Given the description of an element on the screen output the (x, y) to click on. 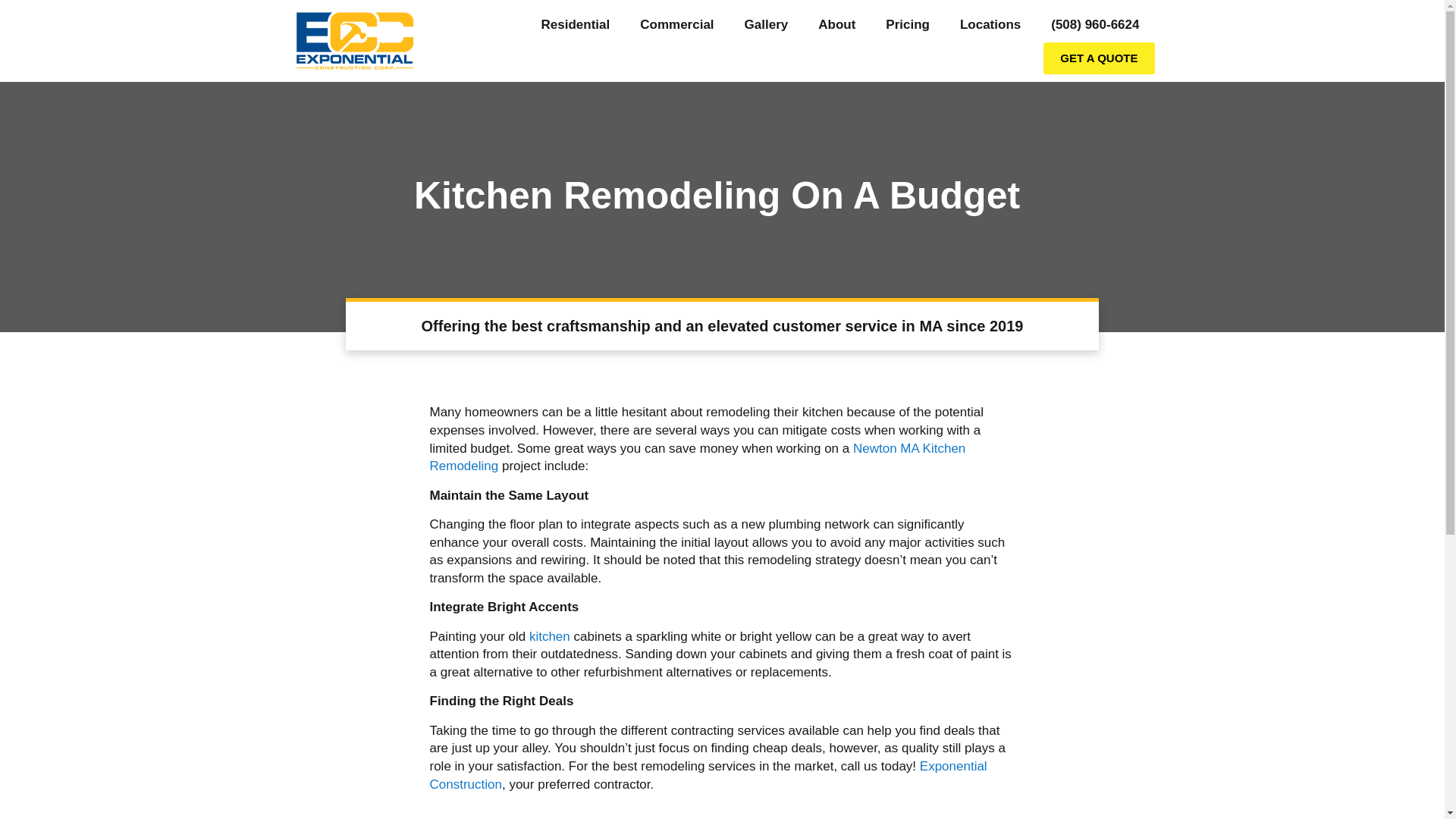
Commercial (676, 24)
Residential (575, 24)
Pricing (907, 24)
About (836, 24)
Locations (989, 24)
Gallery (766, 24)
